Given the description of an element on the screen output the (x, y) to click on. 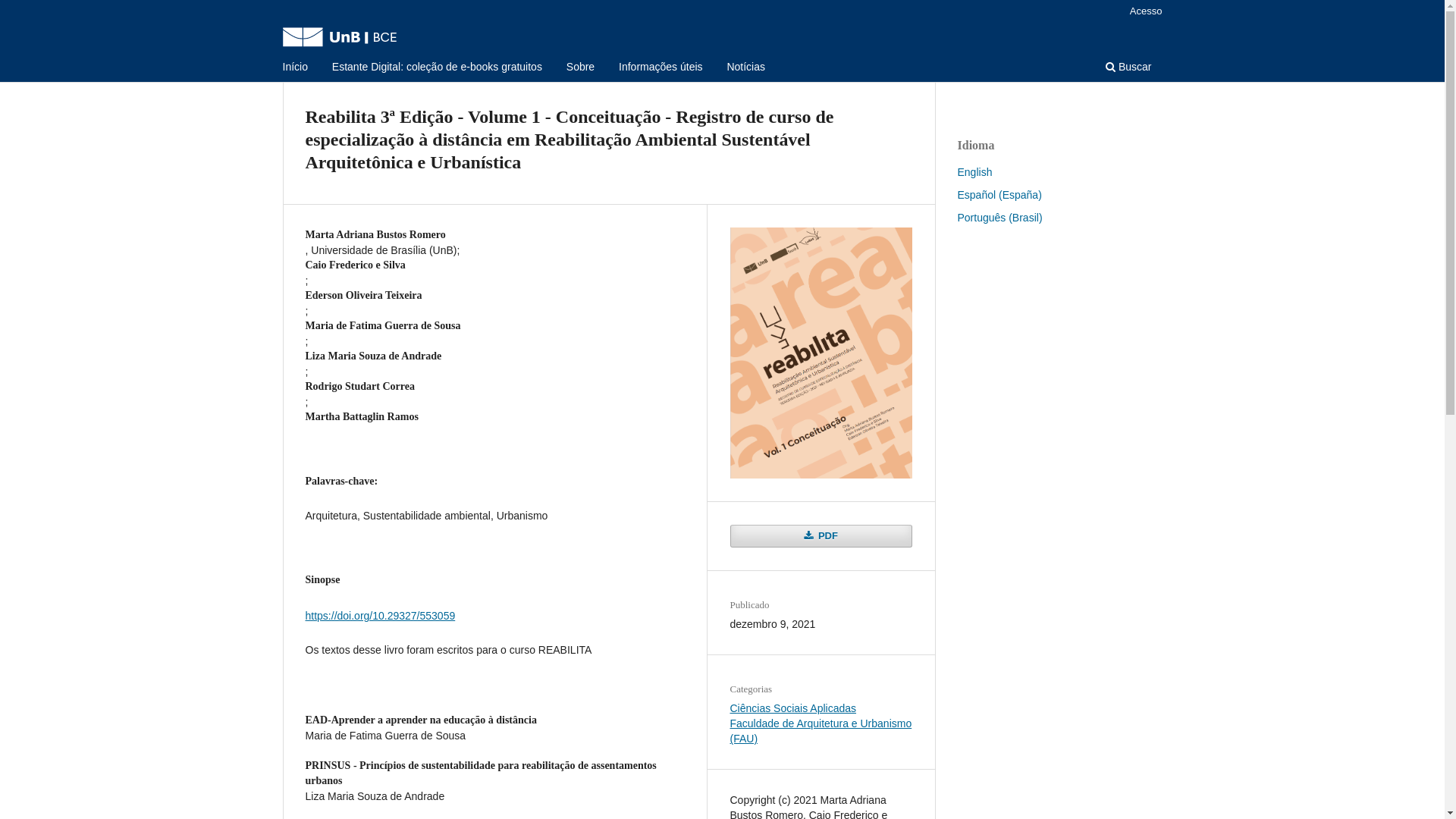
Acesso Element type: text (1146, 11)
Faculdade de Arquitetura e Urbanismo (FAU) Element type: text (820, 730)
Buscar Element type: text (1128, 68)
English Element type: text (974, 172)
https://doi.org/10.29327/553059 Element type: text (379, 615)
Sobre Element type: text (580, 68)
PDF Element type: text (820, 535)
